Given the description of an element on the screen output the (x, y) to click on. 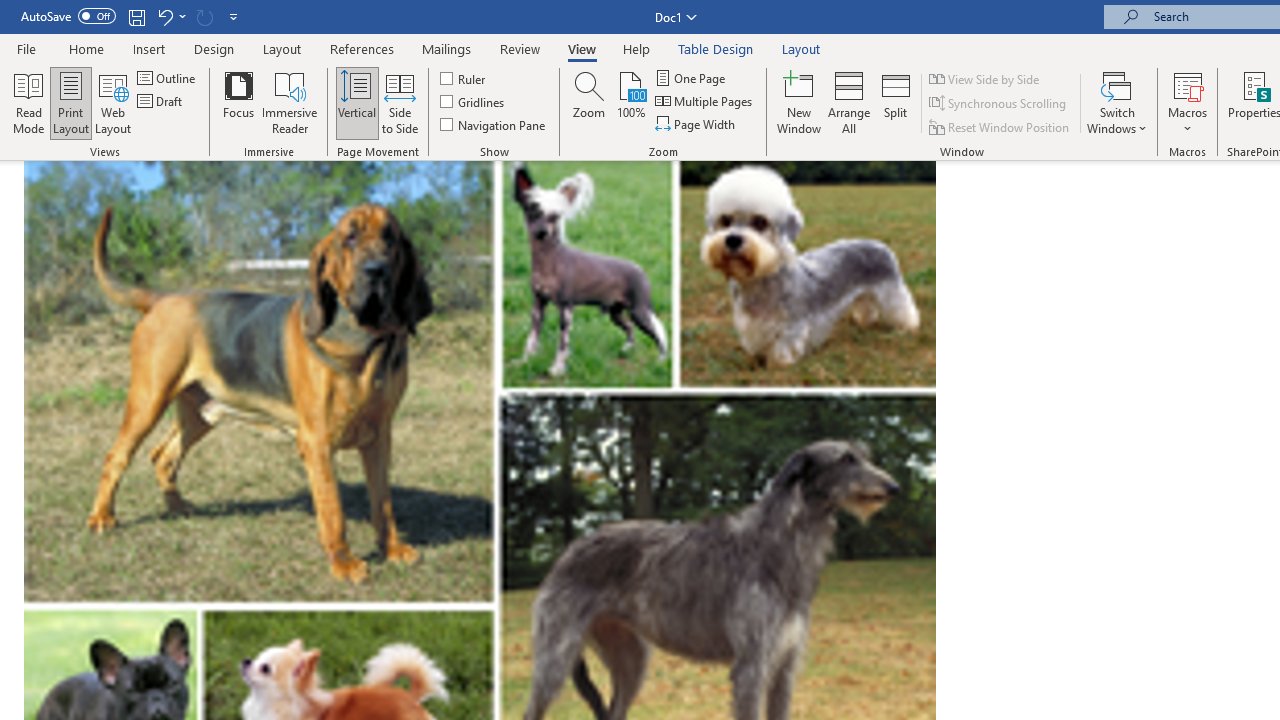
100% (630, 102)
Outline (168, 78)
